Given the description of an element on the screen output the (x, y) to click on. 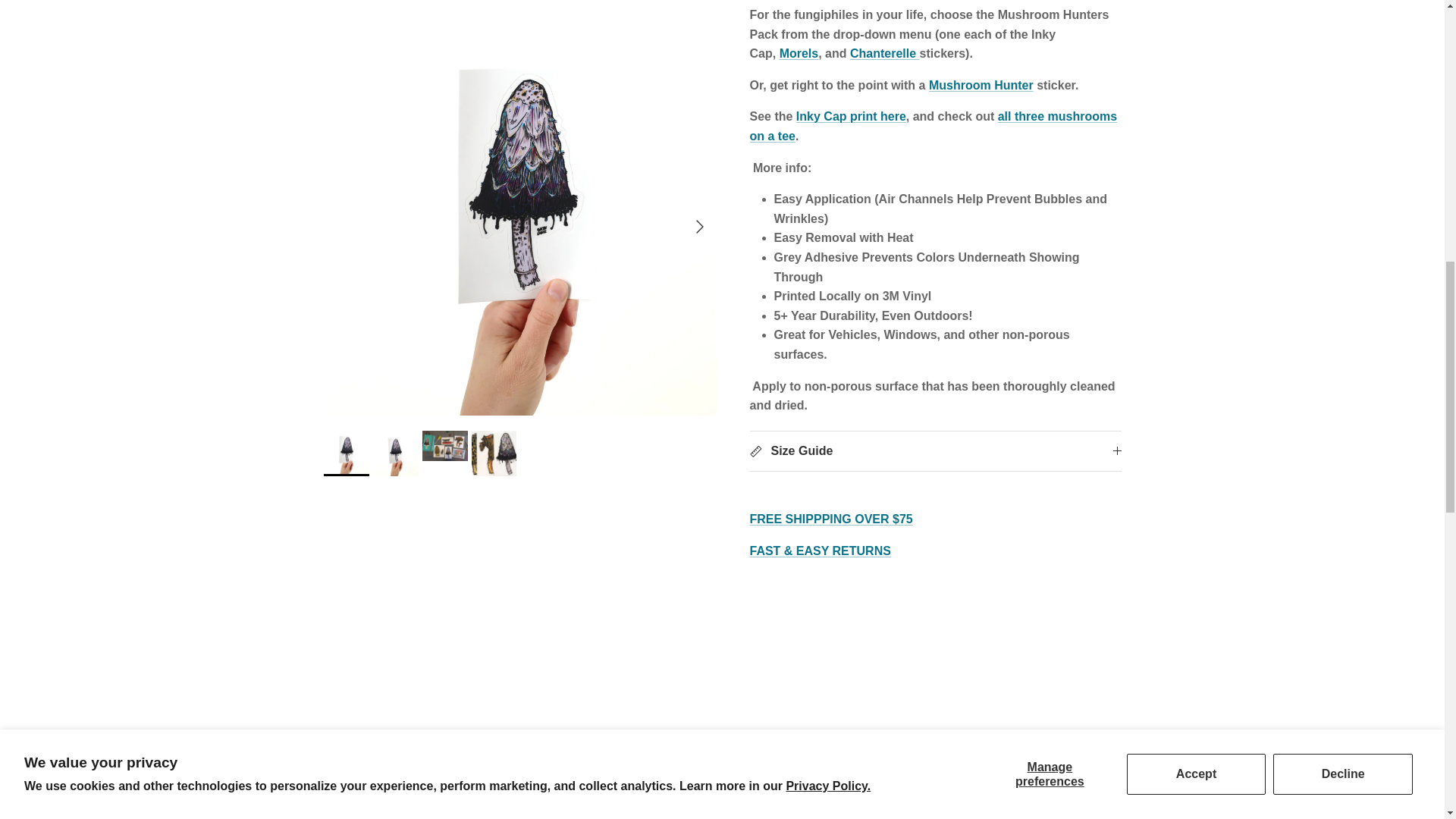
Shipping Policy (830, 506)
Refund Policy (819, 538)
